Given the description of an element on the screen output the (x, y) to click on. 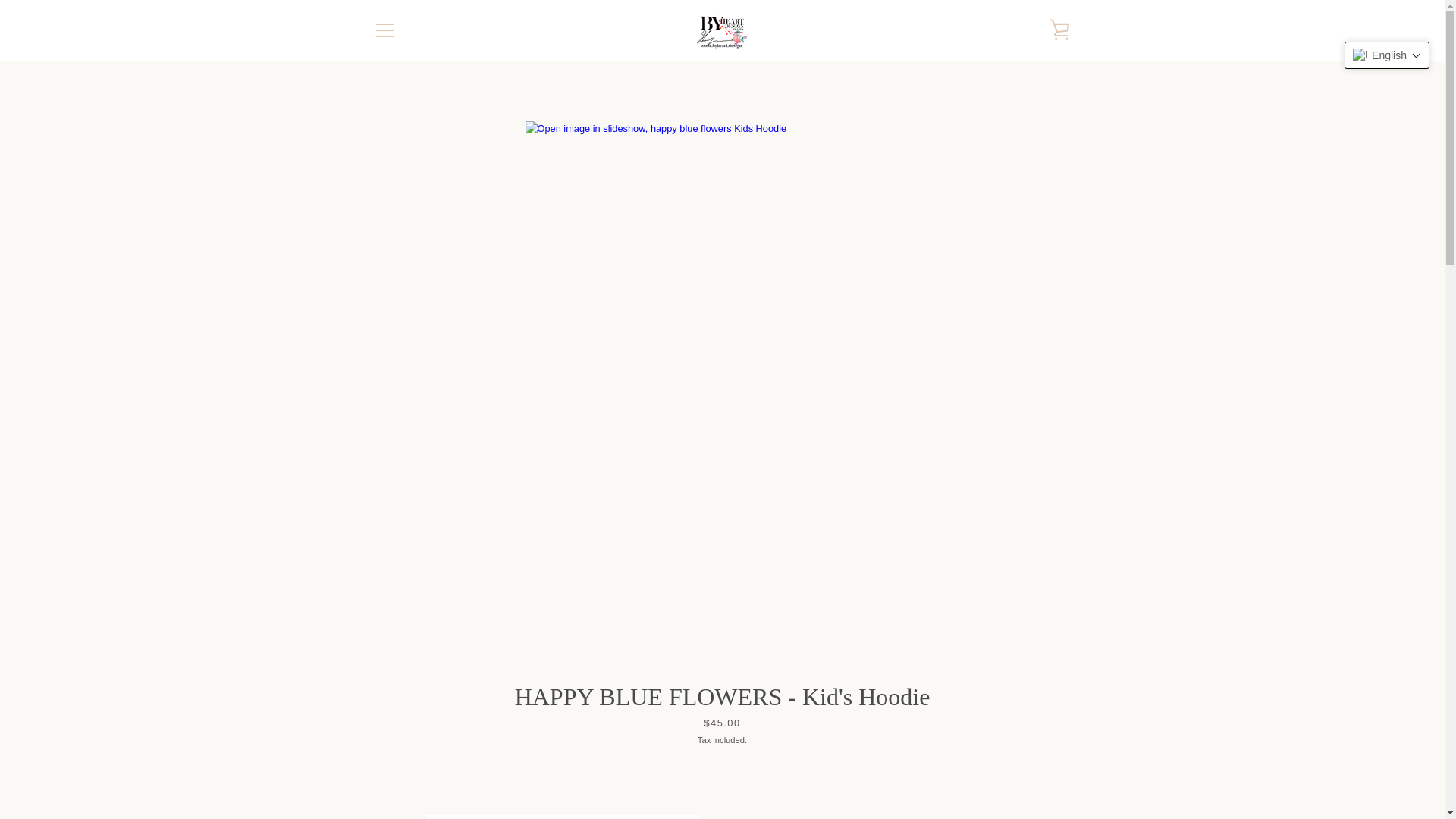
VIEW CART (1059, 30)
MENU (384, 30)
